Given the description of an element on the screen output the (x, y) to click on. 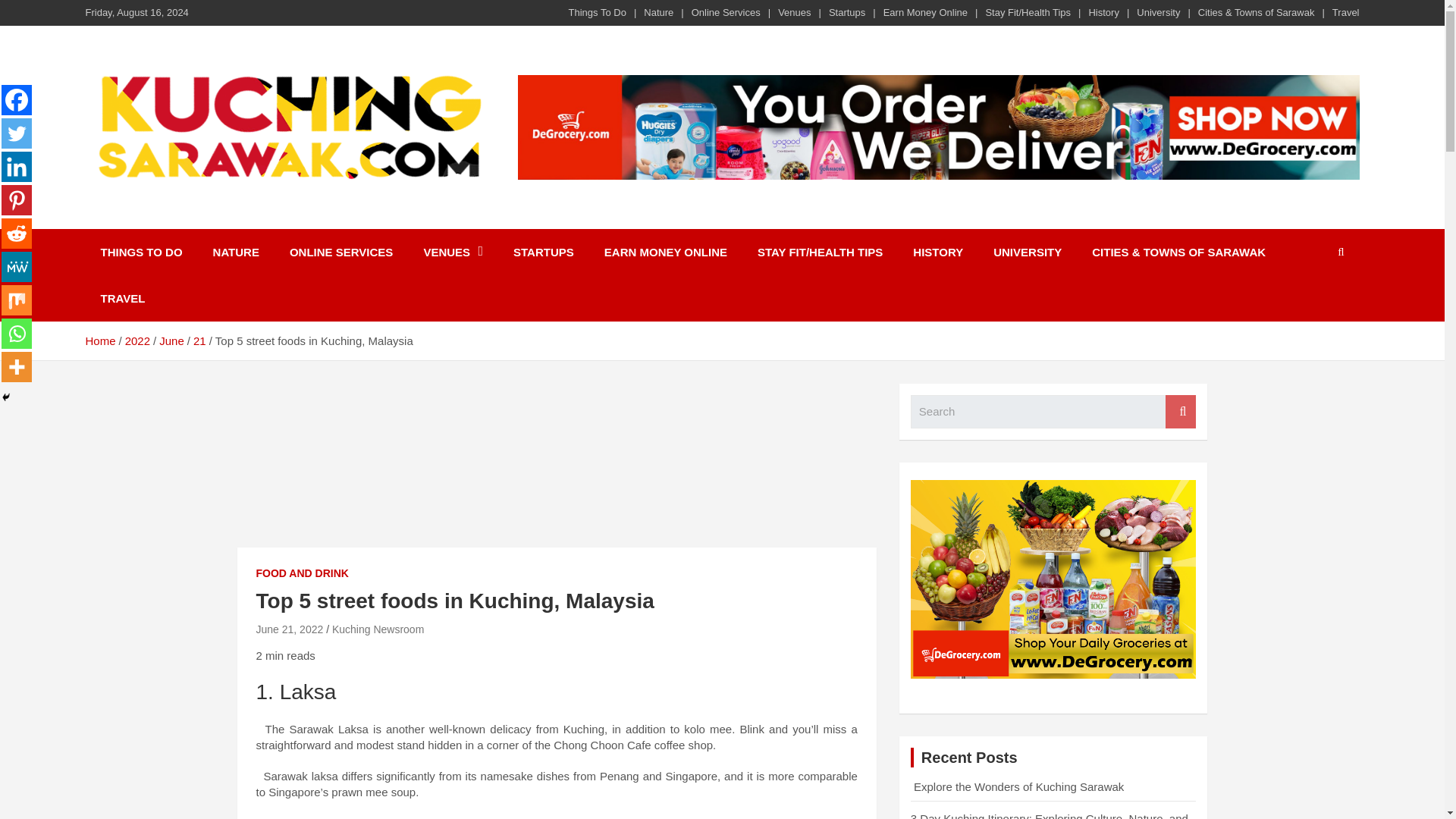
Earn Money Online (925, 12)
Startups (846, 12)
Online Services (725, 12)
Nature (657, 12)
Page 1 (556, 748)
June (171, 340)
NATURE (236, 252)
TRAVEL (122, 298)
Venues (793, 12)
VENUES (452, 252)
